Given the description of an element on the screen output the (x, y) to click on. 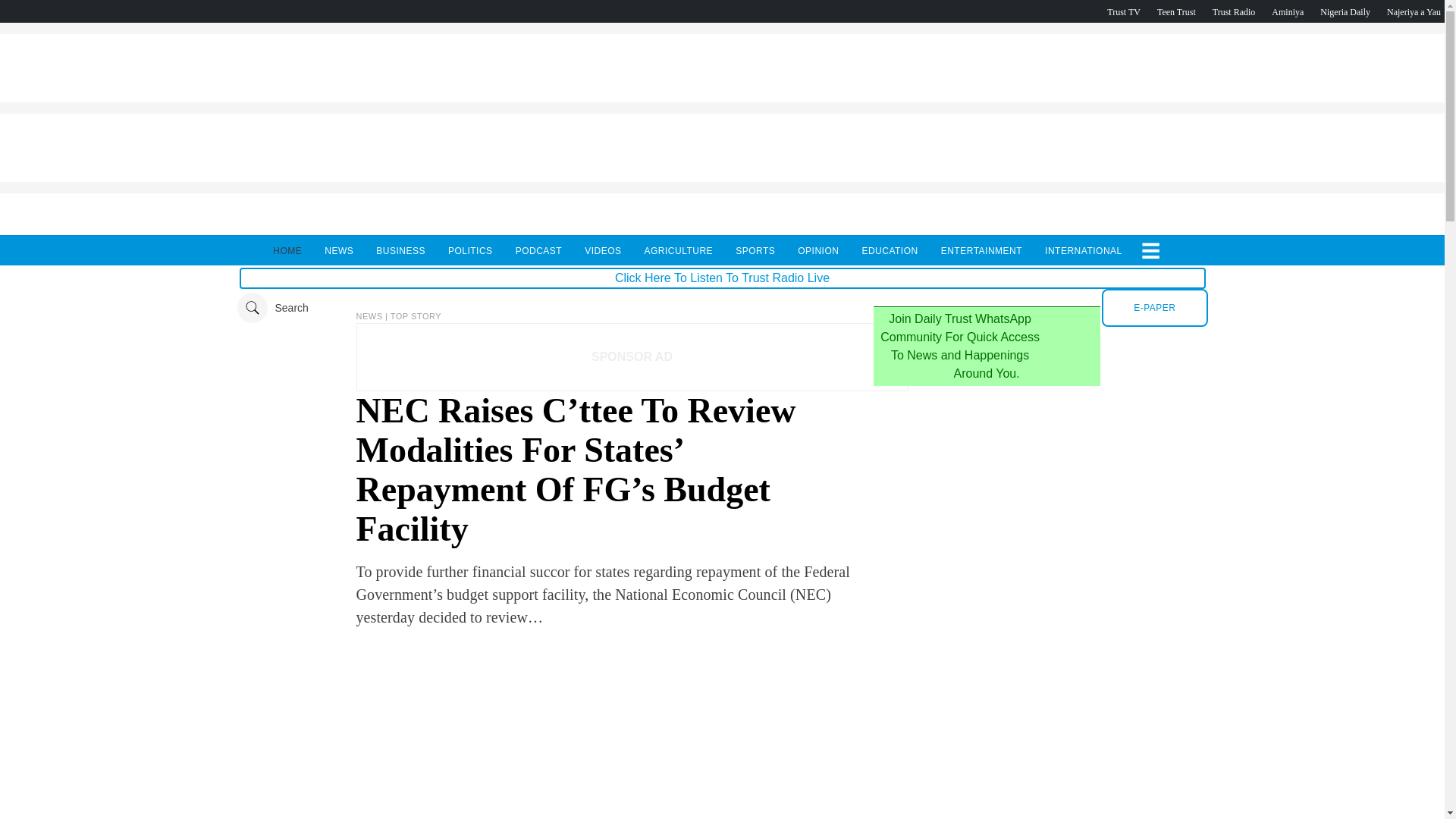
Teen Trust (1176, 11)
Teen Trust (1176, 11)
OPAY: Contact Us (721, 177)
Top Story (415, 316)
Najeriya a Yau (1414, 11)
Saurari Shirye Shiryenmu (1414, 11)
Trust Radio (1233, 11)
Search (271, 307)
Trust TV (1123, 11)
Aminiya Online (1287, 11)
Trust Radio Live (1233, 11)
Aminiya (1287, 11)
E-PAPER (1154, 307)
Dailytrust (722, 307)
PEPU Meme Coin (721, 97)
